Given the description of an element on the screen output the (x, y) to click on. 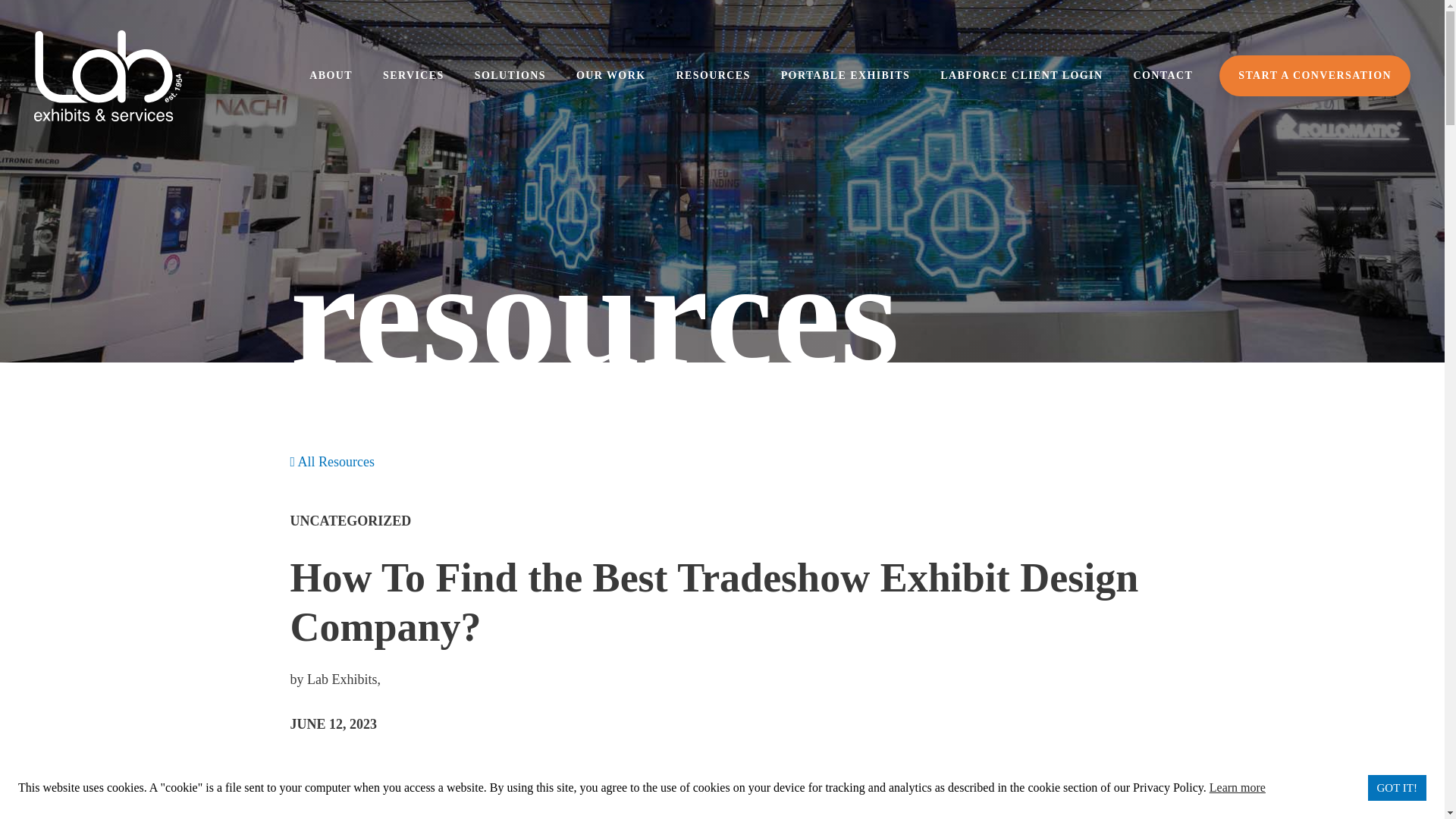
SERVICES (414, 75)
START A CONVERSATION (1315, 75)
Email this post! (414, 784)
Share this post! (388, 784)
LABFORCE CLIENT LOGIN (1021, 75)
OUR WORK (610, 75)
Share this post! (337, 784)
CONTACT (1163, 75)
ABOUT (331, 75)
GOT IT! (1397, 787)
PORTABLE EXHIBITS (844, 75)
Learn more (1237, 787)
SOLUTIONS (510, 75)
Tweet this post! (362, 784)
RESOURCES (713, 75)
